Given the description of an element on the screen output the (x, y) to click on. 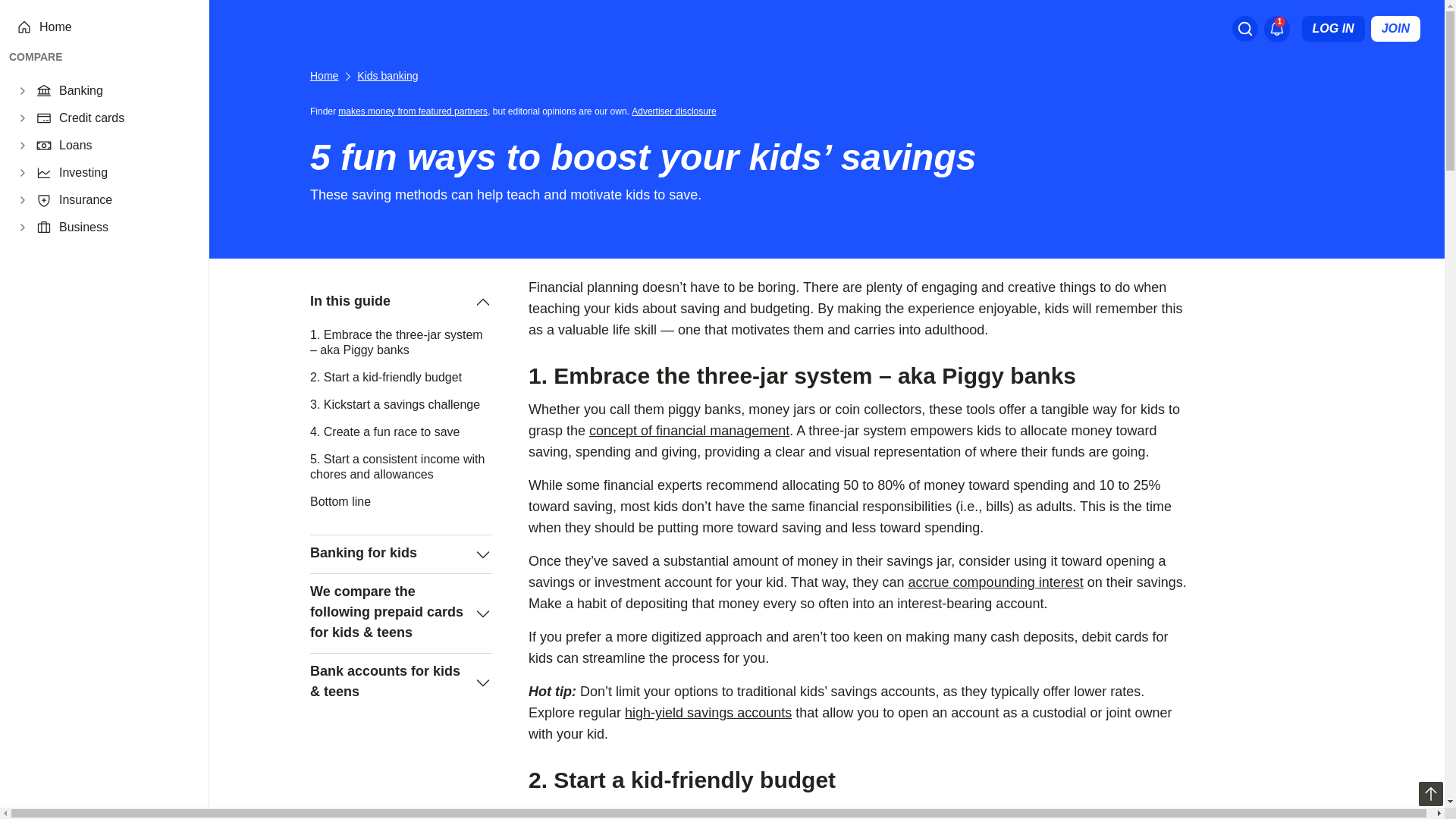
Home (114, 27)
Credit cards (124, 117)
Back to Top (1430, 793)
Banking (124, 90)
Loans (124, 145)
